Given the description of an element on the screen output the (x, y) to click on. 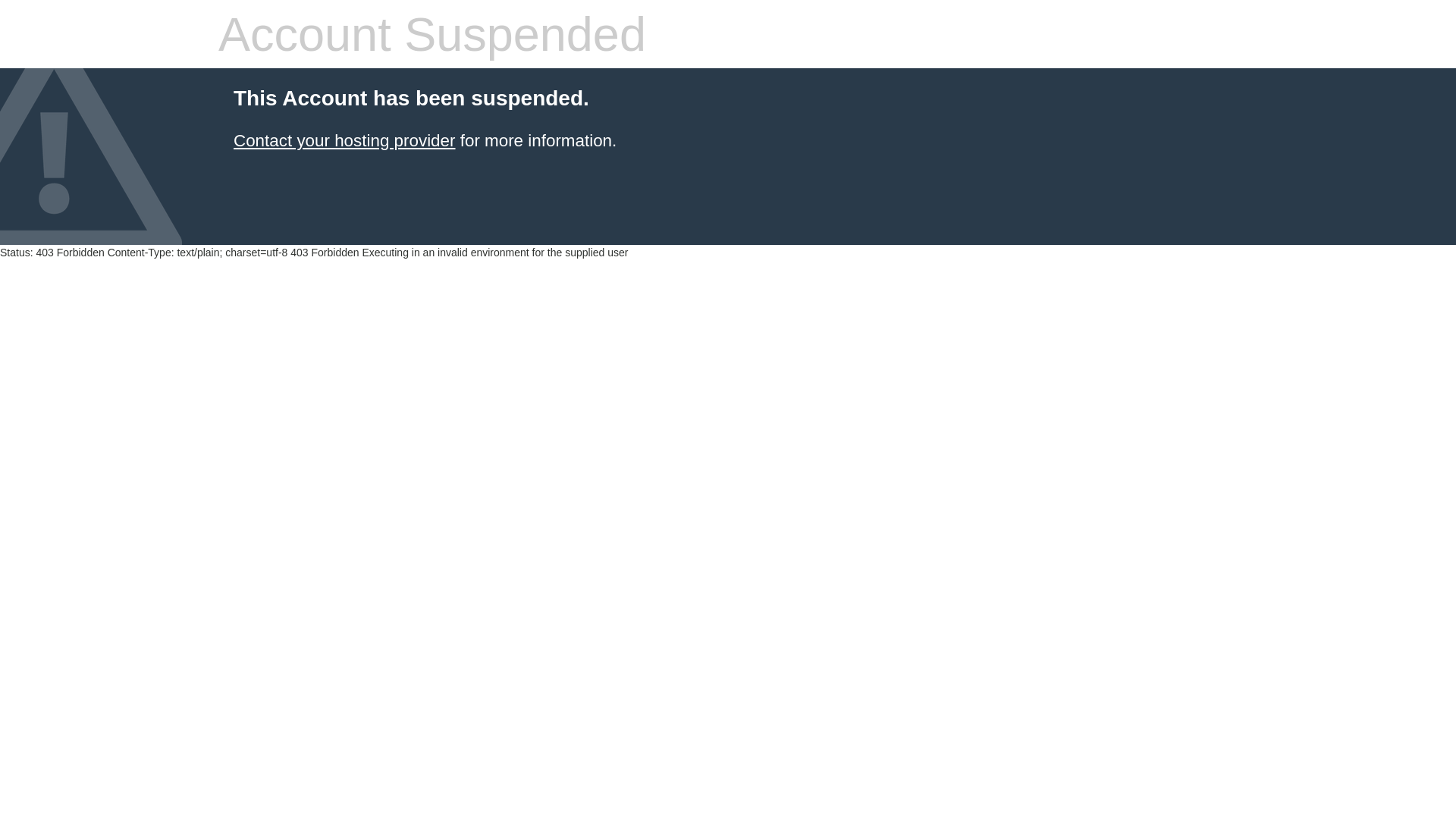
Contact your hosting provider Element type: text (344, 140)
